Given the description of an element on the screen output the (x, y) to click on. 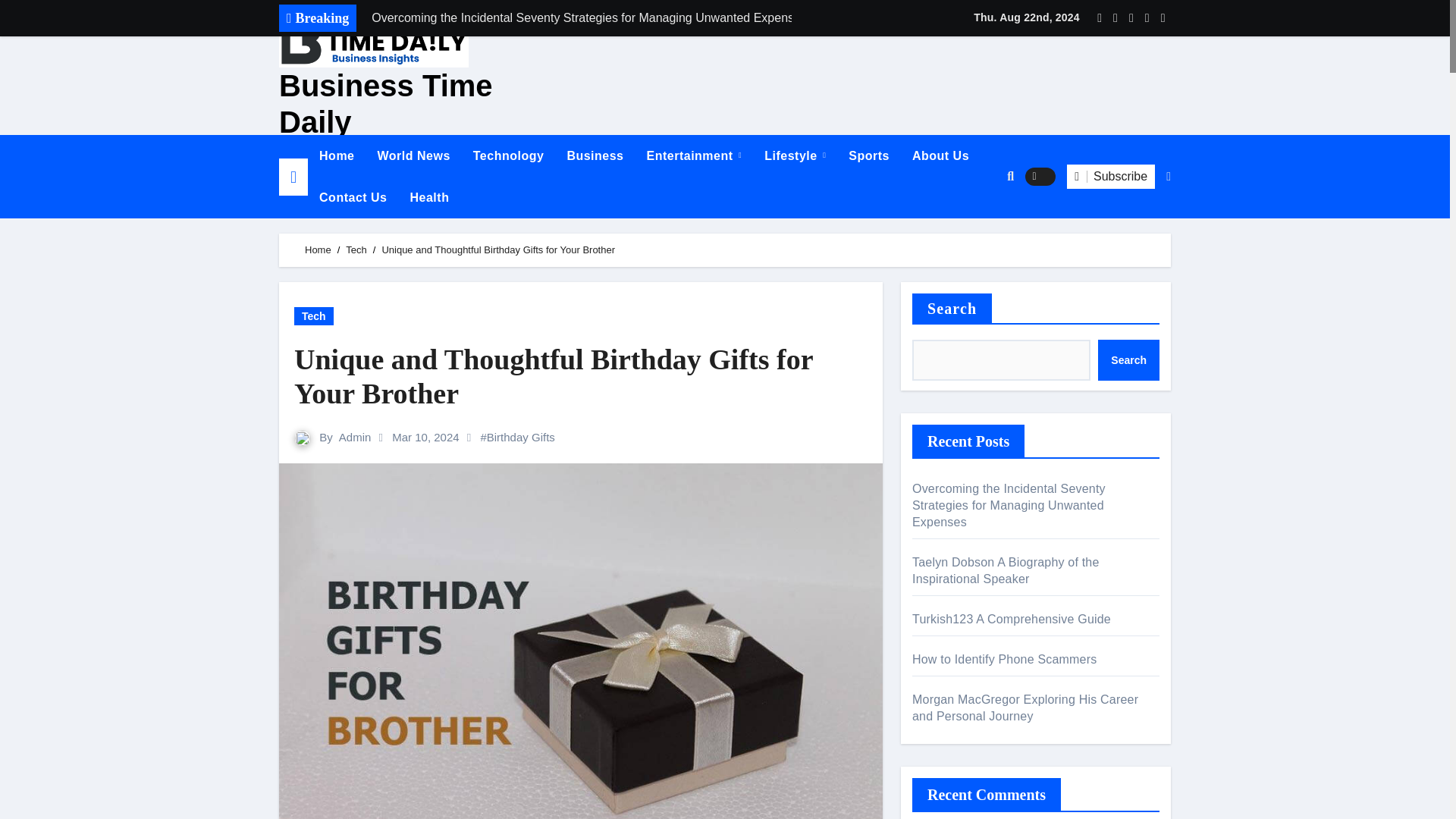
Technology (508, 155)
Contact Us (352, 197)
Business (594, 155)
Home (336, 155)
World News (413, 155)
About Us (940, 155)
World News (413, 155)
Health (429, 197)
Sports (869, 155)
Lifestyle (794, 155)
